Given the description of an element on the screen output the (x, y) to click on. 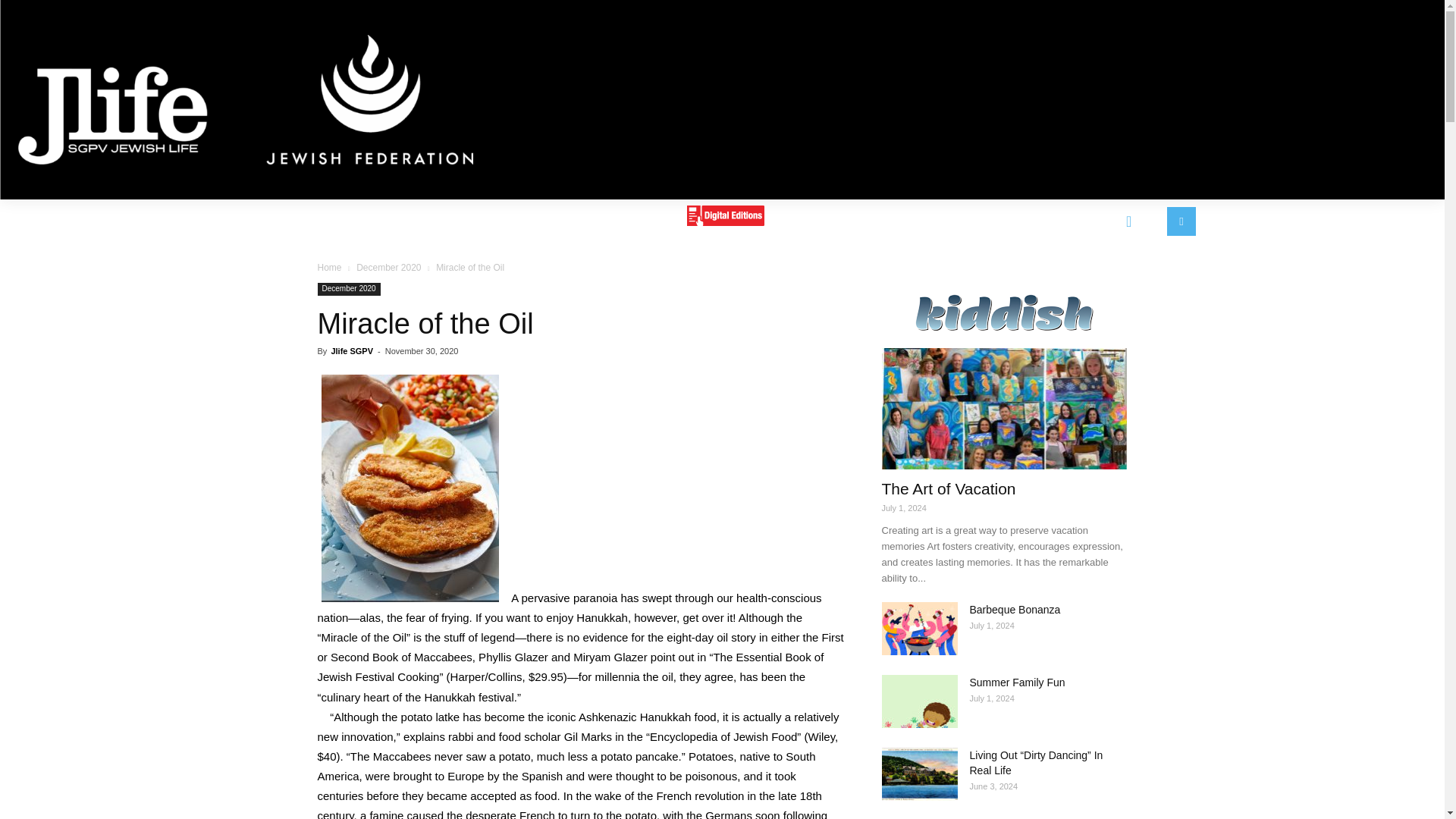
The Art of Vacation (1003, 408)
ARCHIVES (927, 219)
December 2020 (388, 267)
CONTACT US (828, 219)
Home (328, 267)
Jlife SGPV (351, 350)
JLIFEOC (1011, 219)
View all posts in December 2020 (388, 267)
SUBSCRIBE (628, 219)
ADVERTISE (529, 219)
December 2020 (348, 288)
ABOUT US (435, 219)
Jlife SGPV Logo (245, 99)
